Given the description of an element on the screen output the (x, y) to click on. 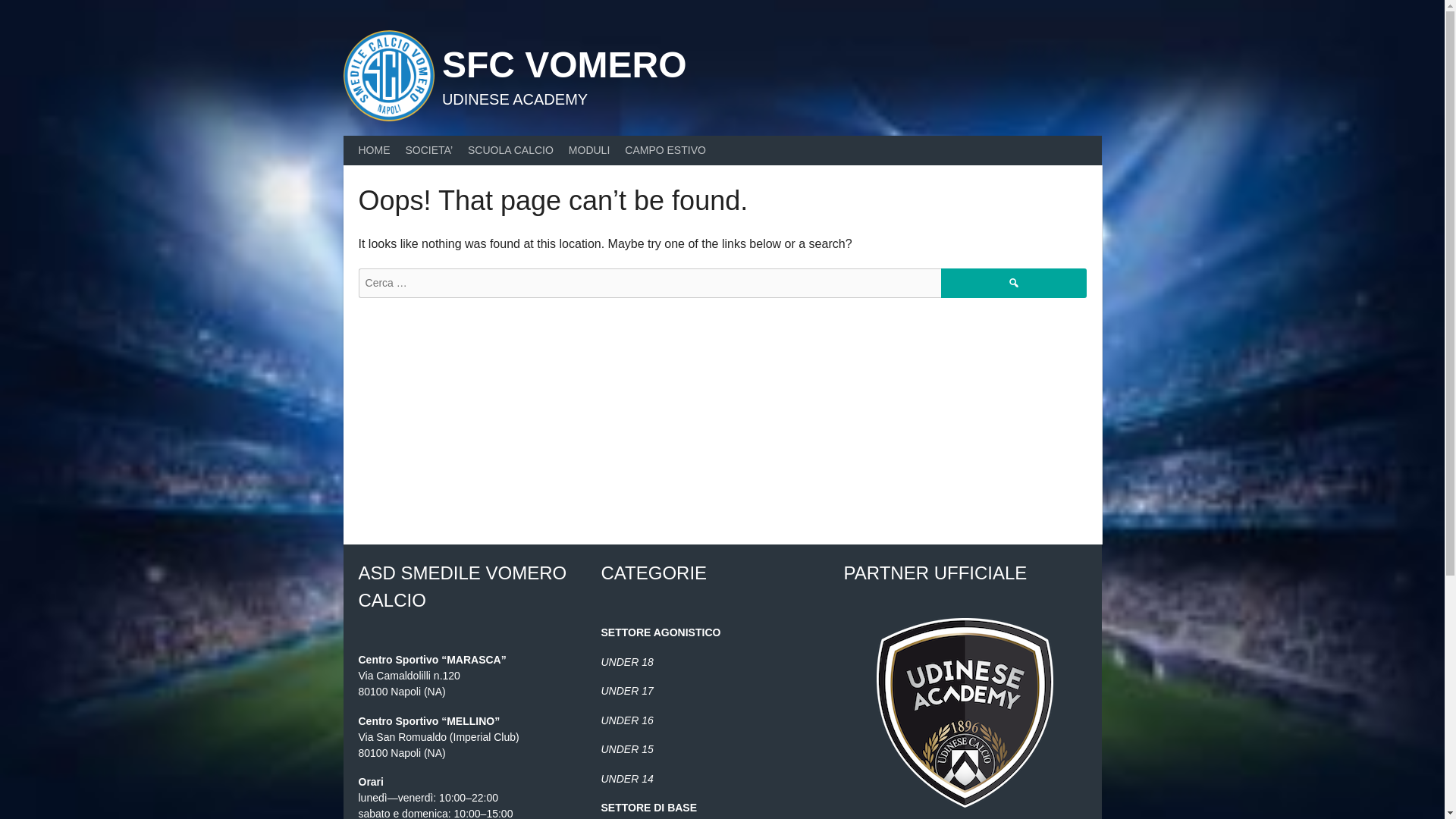
SFC VOMERO (564, 65)
Cerca (1013, 283)
MODULI (588, 150)
HOME (373, 150)
CAMPO ESTIVO (665, 150)
SCUOLA CALCIO (510, 150)
